Given the description of an element on the screen output the (x, y) to click on. 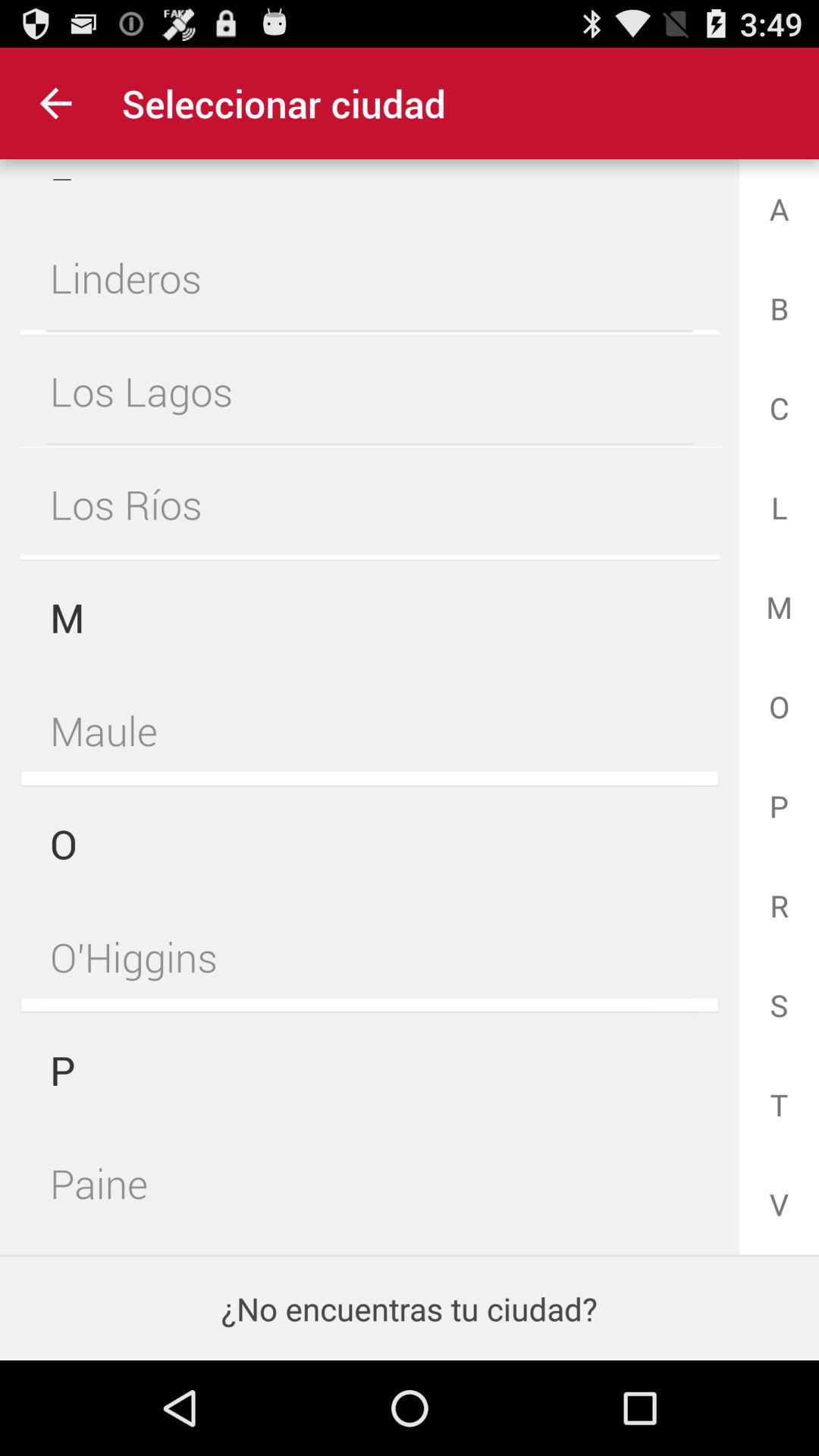
turn off icon next to c item (369, 390)
